Given the description of an element on the screen output the (x, y) to click on. 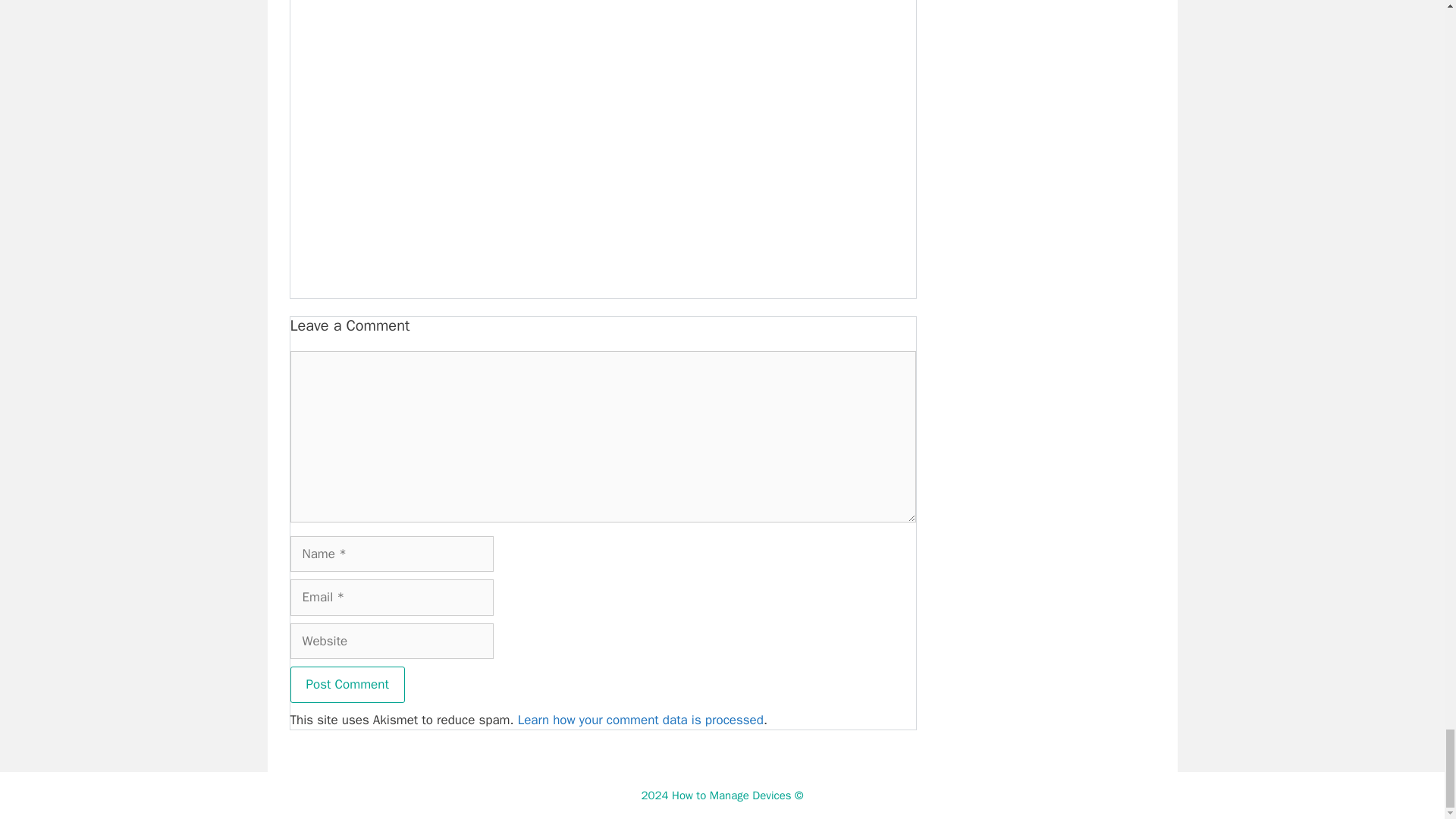
Learn how your comment data is processed (640, 719)
Post Comment (346, 684)
Post Comment (346, 684)
